Given the description of an element on the screen output the (x, y) to click on. 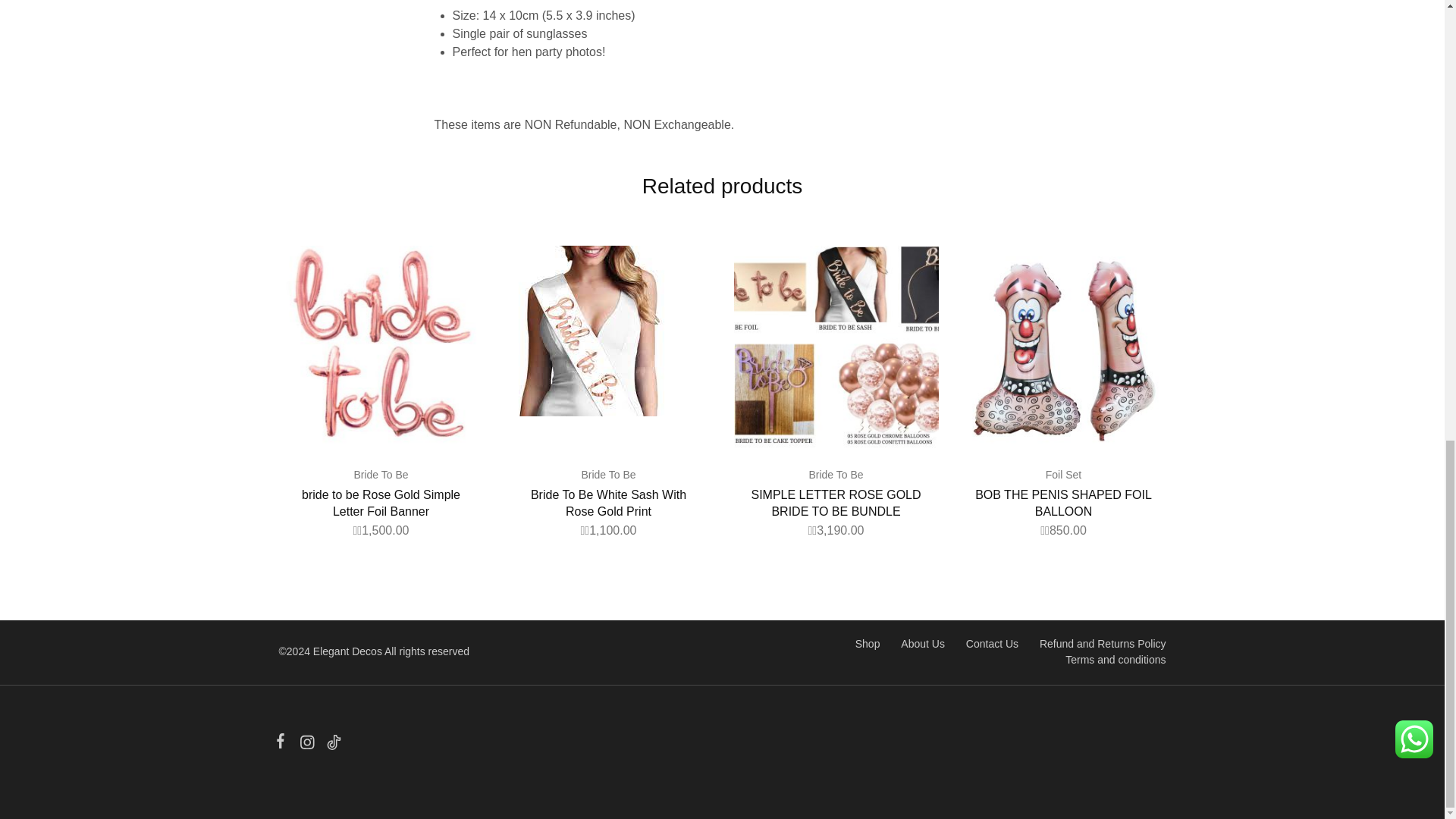
Instagram (307, 744)
Tiktok (330, 744)
Facebook (283, 743)
